Given the description of an element on the screen output the (x, y) to click on. 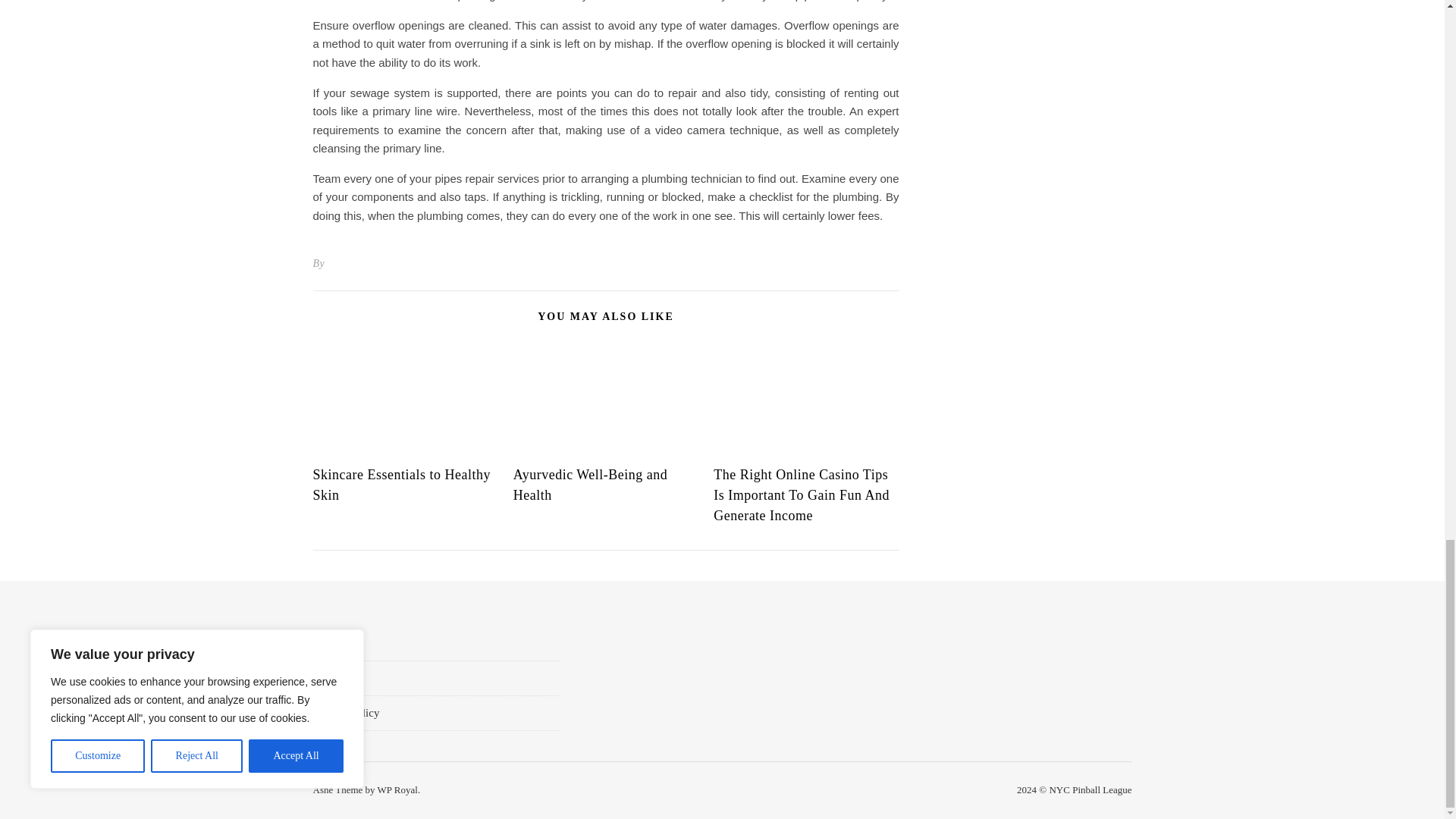
Skincare Essentials to Healthy Skin (401, 484)
Ayurvedic Well-Being and Health (590, 484)
